Given the description of an element on the screen output the (x, y) to click on. 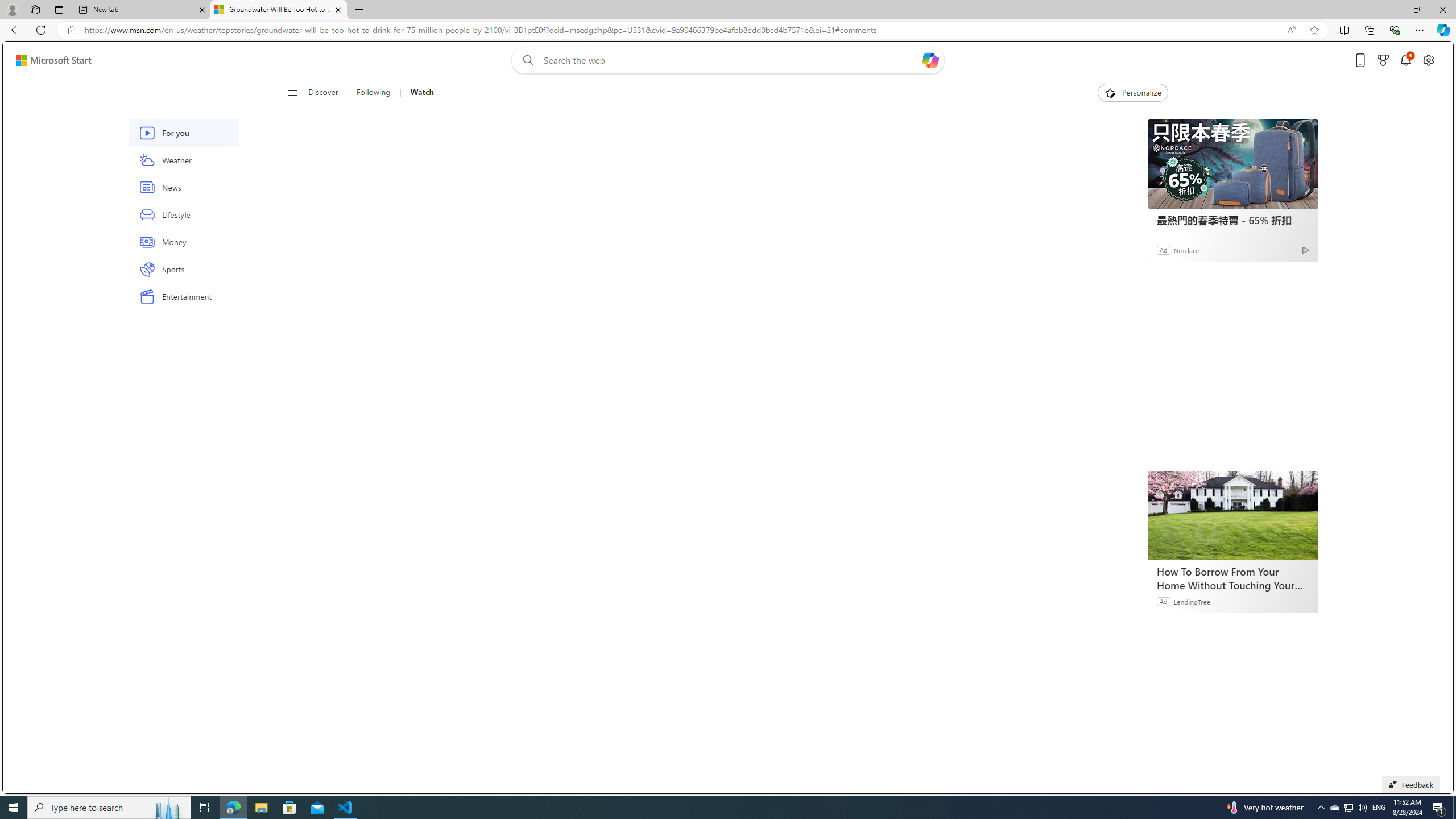
Open navigation menu (292, 92)
To get missing image descriptions, open the context menu. (1109, 92)
How To Borrow From Your Home Without Touching Your Mortgage (1232, 578)
